Given the description of an element on the screen output the (x, y) to click on. 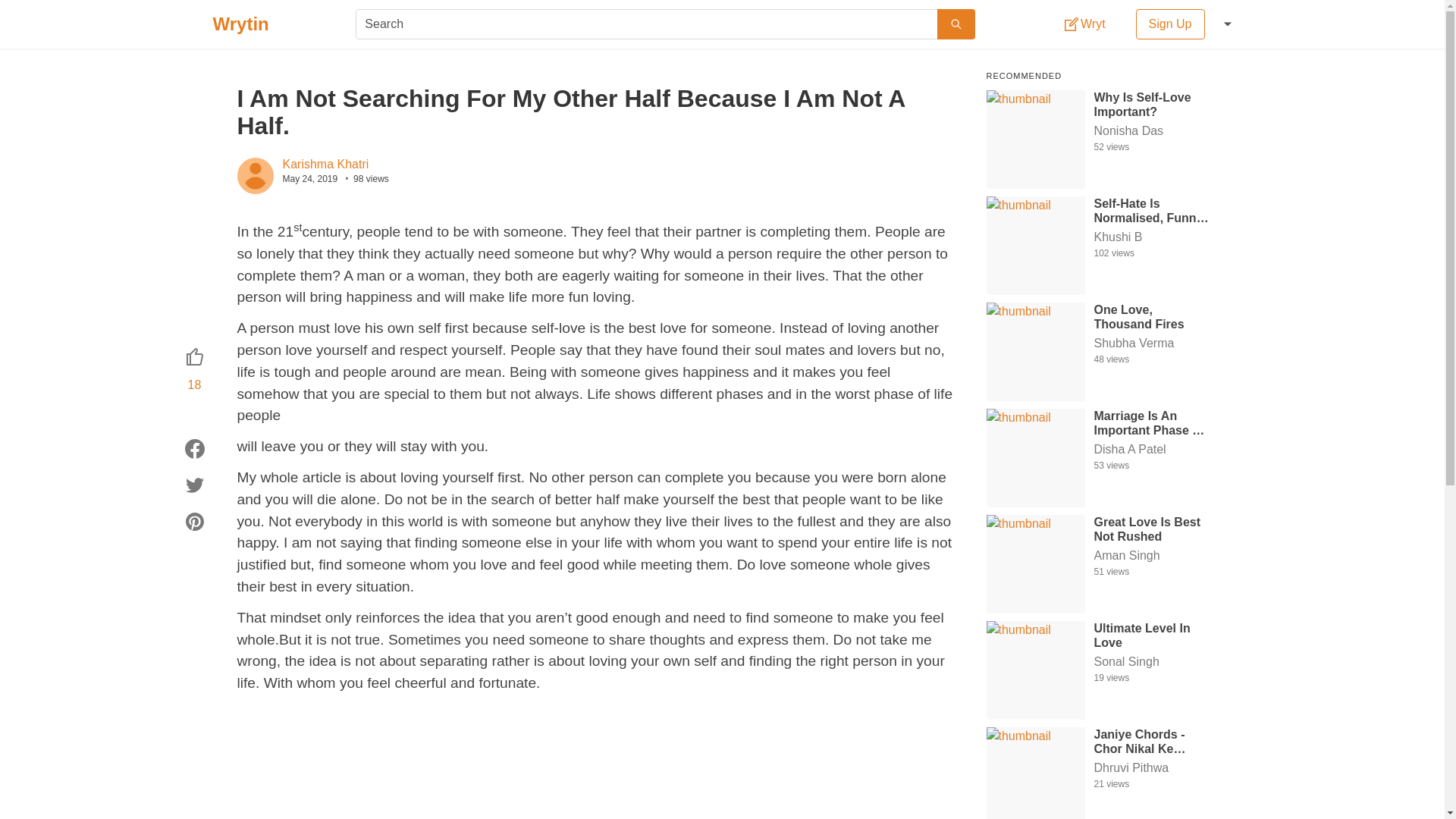
Sonal Singh (1152, 661)
One Love, Thousand Fires (1152, 316)
Great Love Is Best Not Rushed (1152, 528)
Marriage Is An Important Phase Of Life For Everyone! (1152, 421)
Ultimate Level In Love (1152, 634)
One Love, Thousand Fires (1152, 316)
Shubha Verma (1152, 343)
Self-Hate Is Normalised, Funny Isn't It? (1152, 209)
Marriage Is An Important Phase Of Life For Everyone! (1152, 421)
Nonisha Das (1152, 131)
